Given the description of an element on the screen output the (x, y) to click on. 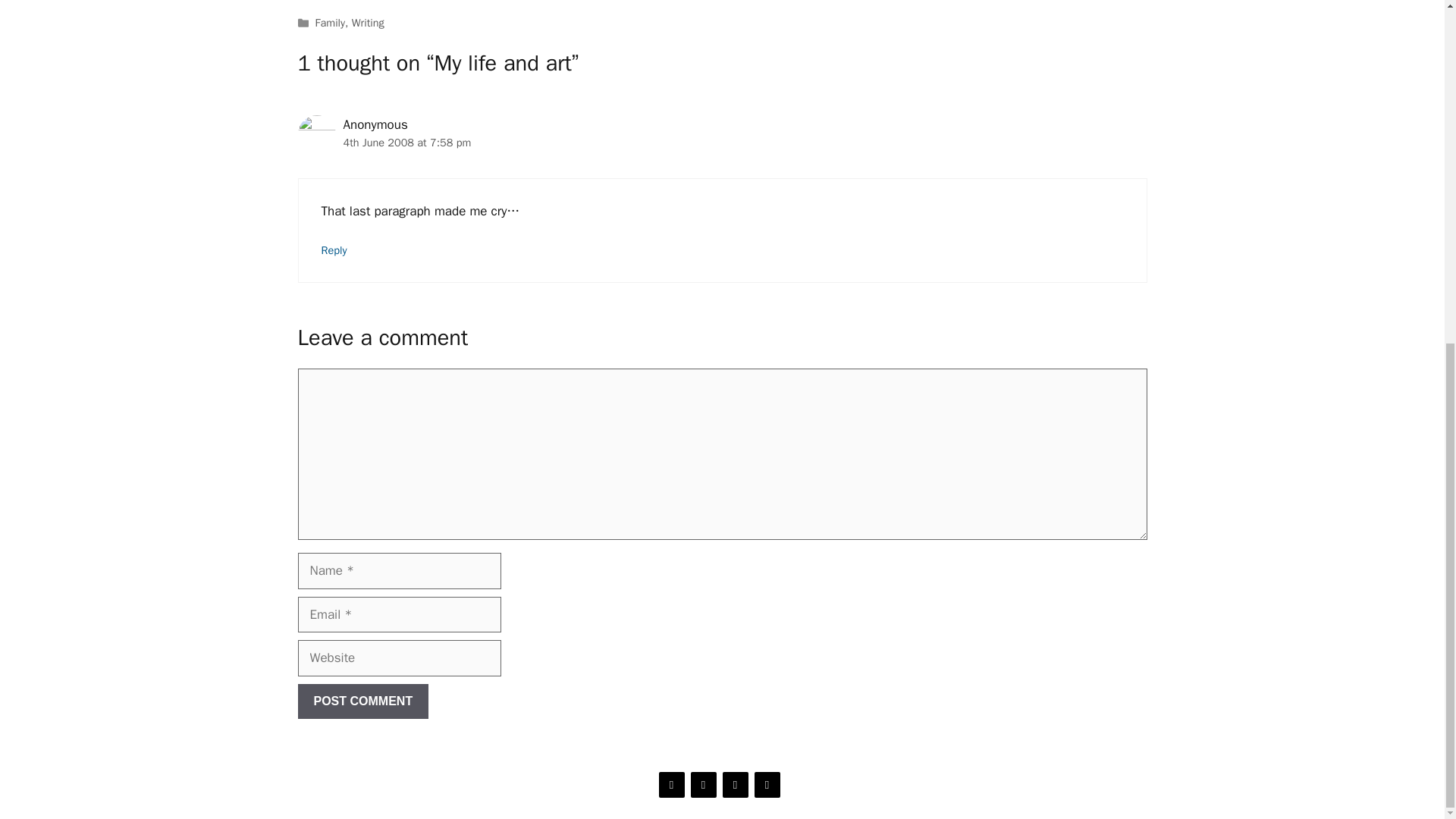
Post Comment (362, 701)
Reply (334, 250)
Facebook (766, 784)
Instagram (703, 784)
Twitter (671, 784)
Writing (368, 22)
4th June 2008 at 7:58 pm (406, 142)
Family (330, 22)
Post Comment (362, 701)
